Given the description of an element on the screen output the (x, y) to click on. 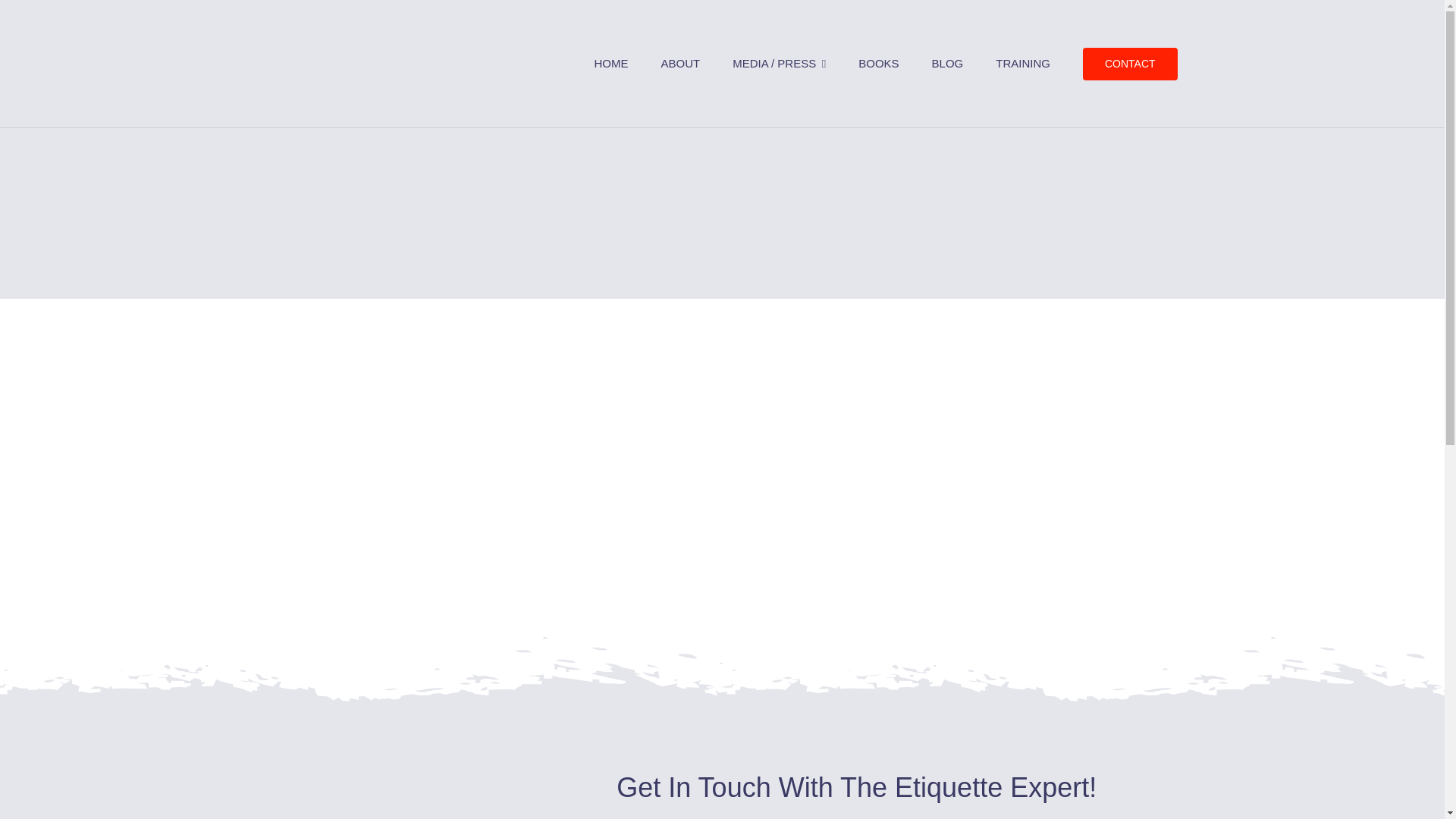
HOME (610, 63)
ABOUT (680, 63)
BLOG (947, 63)
TRAINING (1022, 63)
BOOKS (878, 63)
CONTACT (1130, 63)
